Given the description of an element on the screen output the (x, y) to click on. 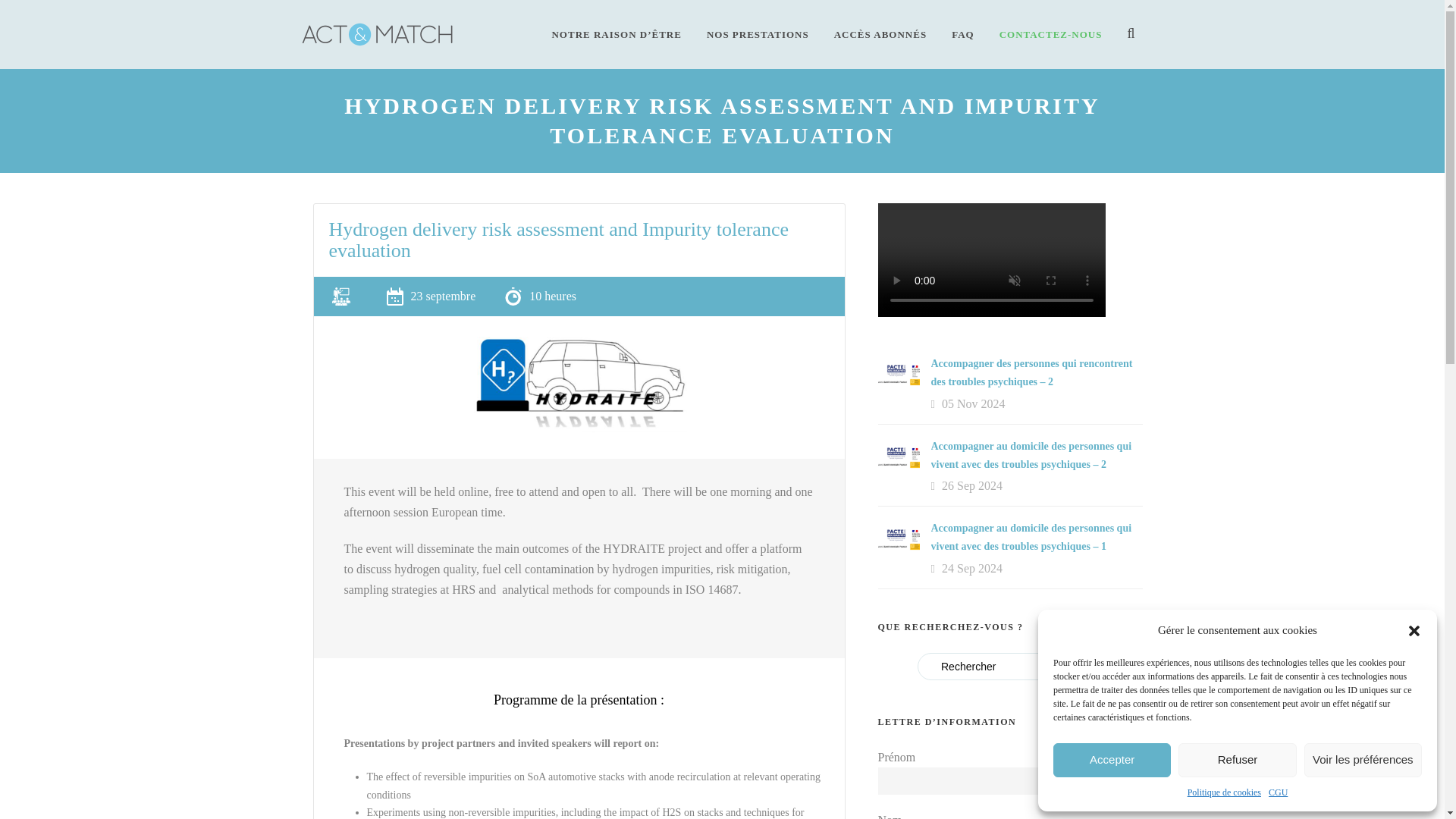
Politique de cookies (1224, 792)
Accepter (1111, 759)
CGU (1277, 792)
Refuser (1236, 759)
